Given the description of an element on the screen output the (x, y) to click on. 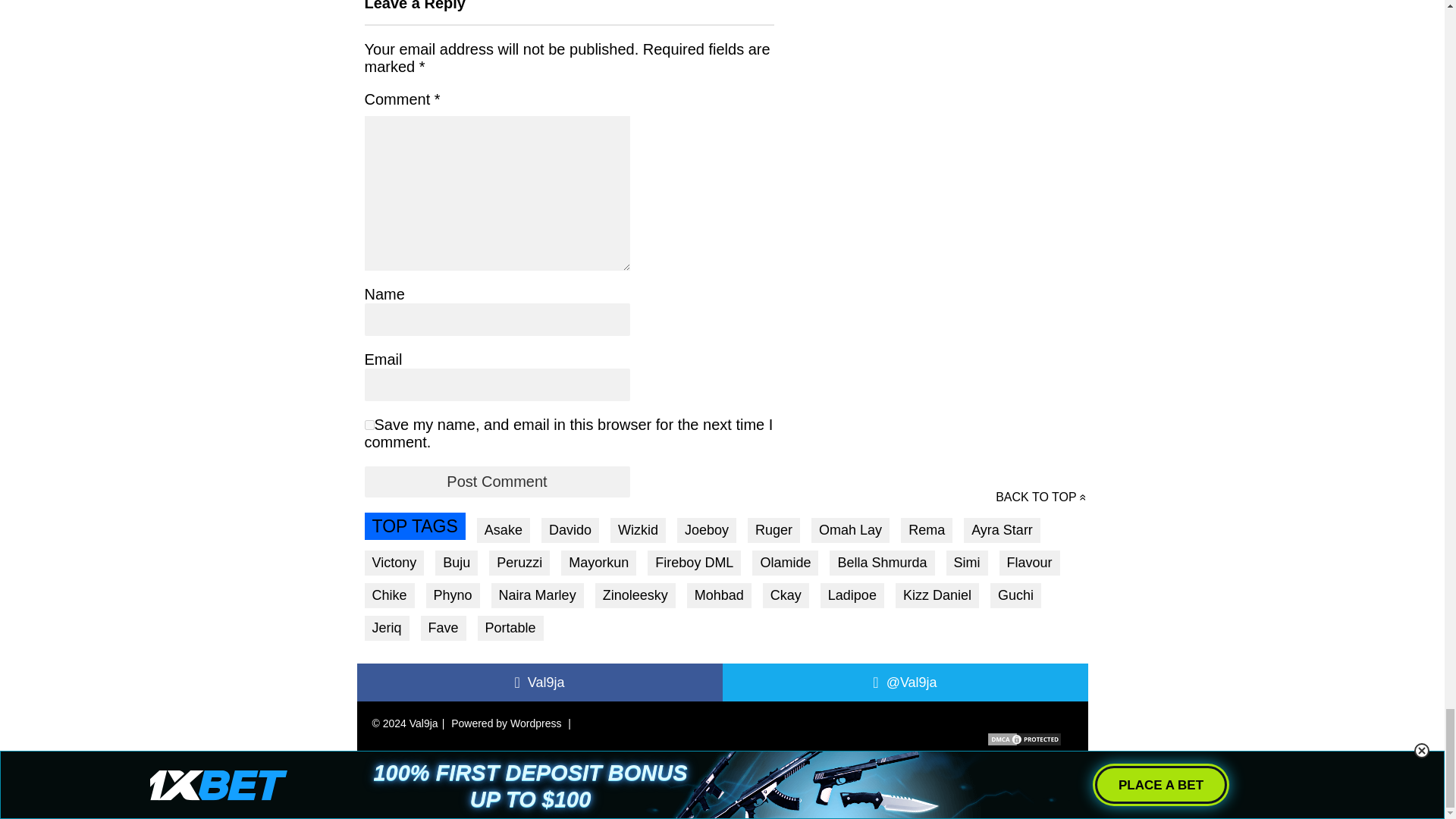
Post Comment (496, 481)
yes (369, 424)
